Given the description of an element on the screen output the (x, y) to click on. 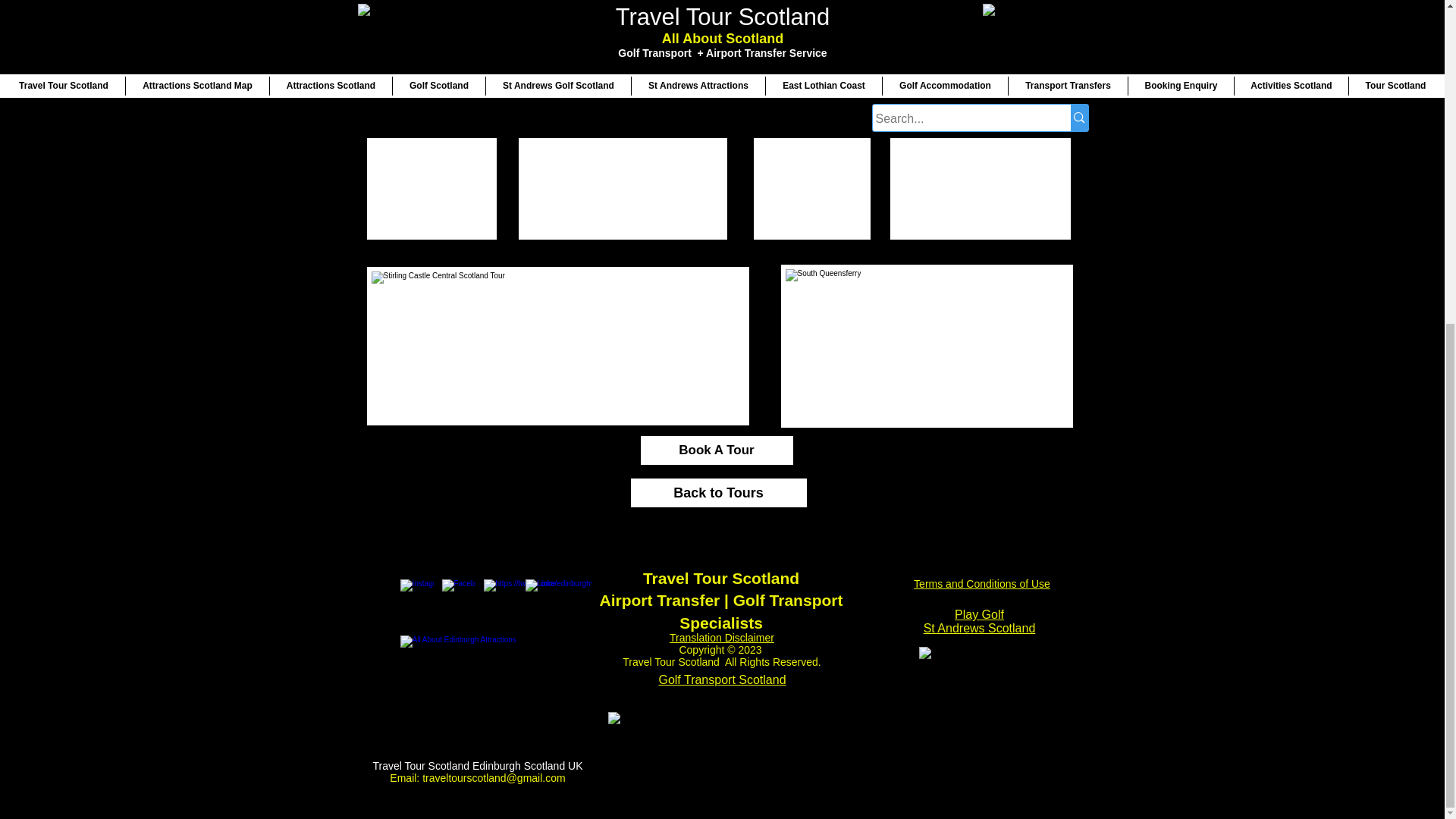
All About Edinburgh Attractions Link (478, 678)
Tommy Morris The Pends St Andrews (727, 762)
Blackness Castle Central Scotland Tour (938, 31)
Stirling Castle Central Scotland Tour (557, 345)
South Queensferry (926, 345)
Linlithgow Palace and St Michael's Central Scotland Tour (472, 31)
Robert the Bruce Bannockburn (687, 31)
Falkirk Wheel Central Scotland Tour (622, 160)
kelpies. Sculptures Central Scotland Tour (978, 160)
